Given the description of an element on the screen output the (x, y) to click on. 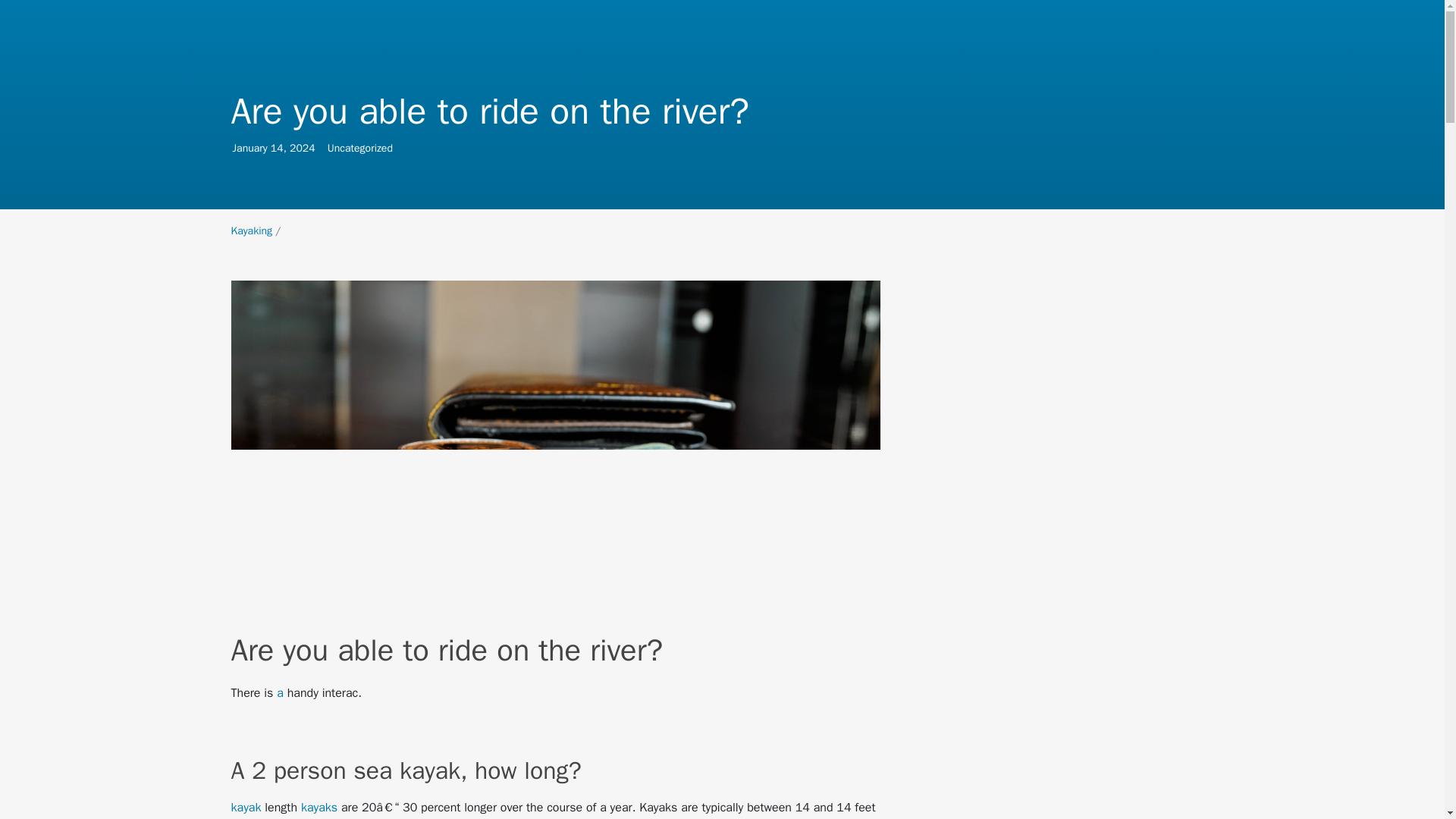
kayak (245, 807)
kayaks (319, 807)
2024 (251, 230)
January (302, 147)
14 (248, 147)
